Given the description of an element on the screen output the (x, y) to click on. 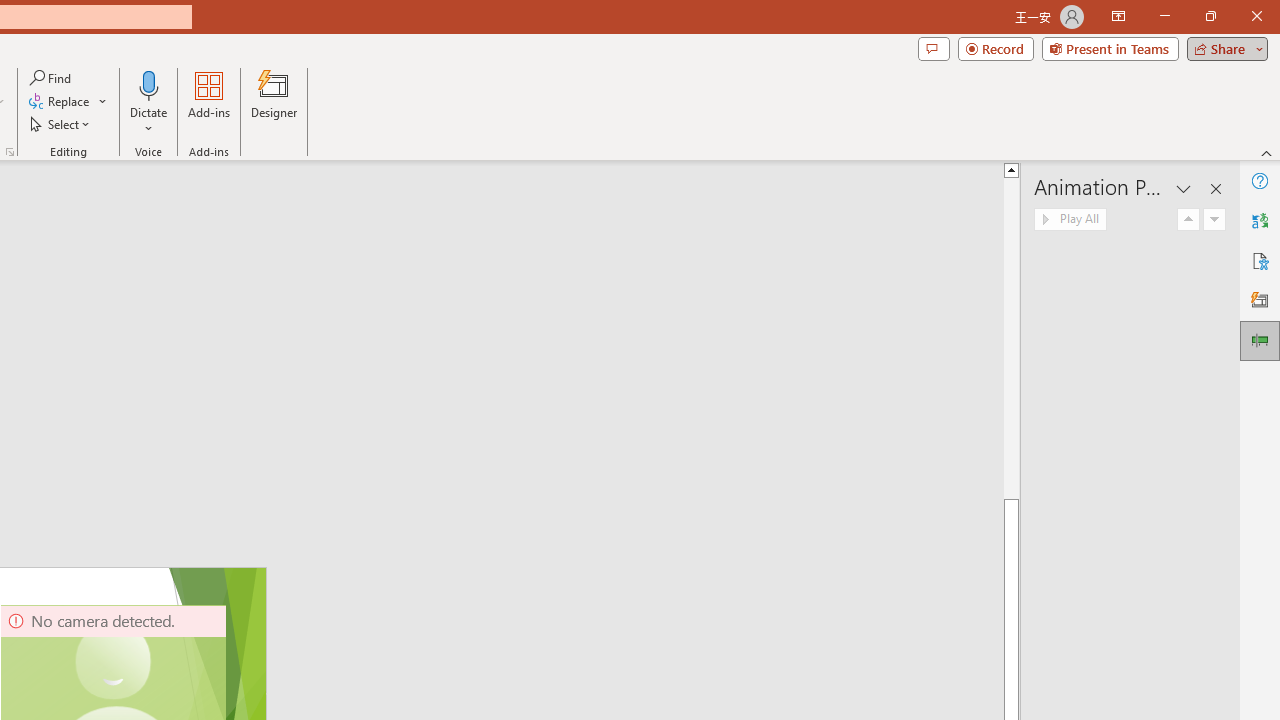
Translator (1260, 220)
Accessibility (1260, 260)
Comments (933, 48)
Play All (1070, 219)
Replace... (60, 101)
Close (1256, 16)
Present in Teams (1109, 48)
Restore Down (1210, 16)
Format Object... (9, 151)
Collapse the Ribbon (1267, 152)
Move Down (1214, 219)
Designer (1260, 300)
Dictate (149, 102)
Line up (1011, 169)
Move Up (1188, 219)
